Given the description of an element on the screen output the (x, y) to click on. 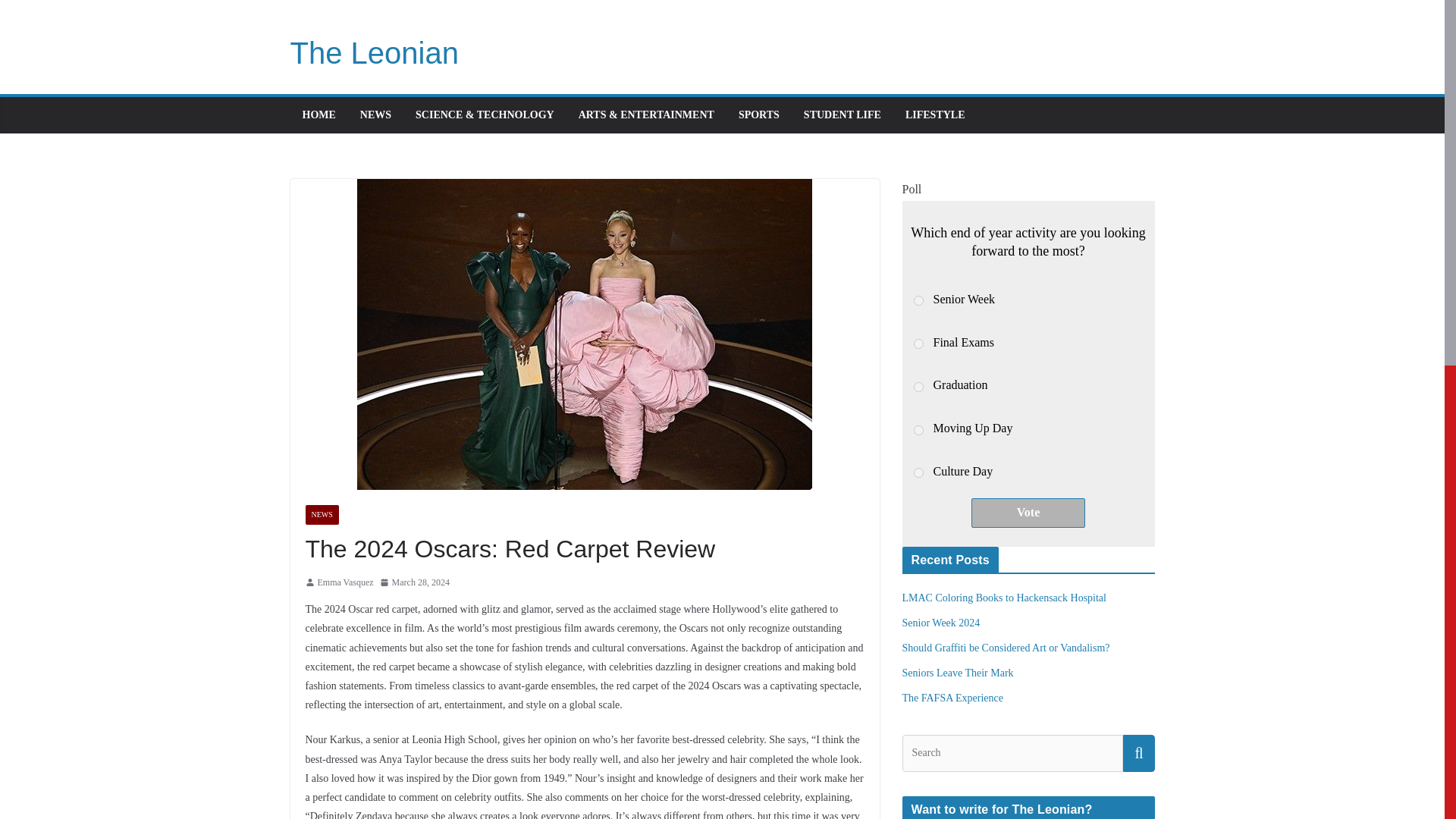
The Leonian (373, 52)
Seniors Leave Their Mark (957, 672)
138 (917, 300)
9:45 am (414, 582)
139 (917, 343)
Emma Vasquez (344, 582)
Senior Week 2024 (940, 622)
The FAFSA Experience (953, 697)
NEWS (375, 115)
LIFESTYLE (935, 115)
